Given the description of an element on the screen output the (x, y) to click on. 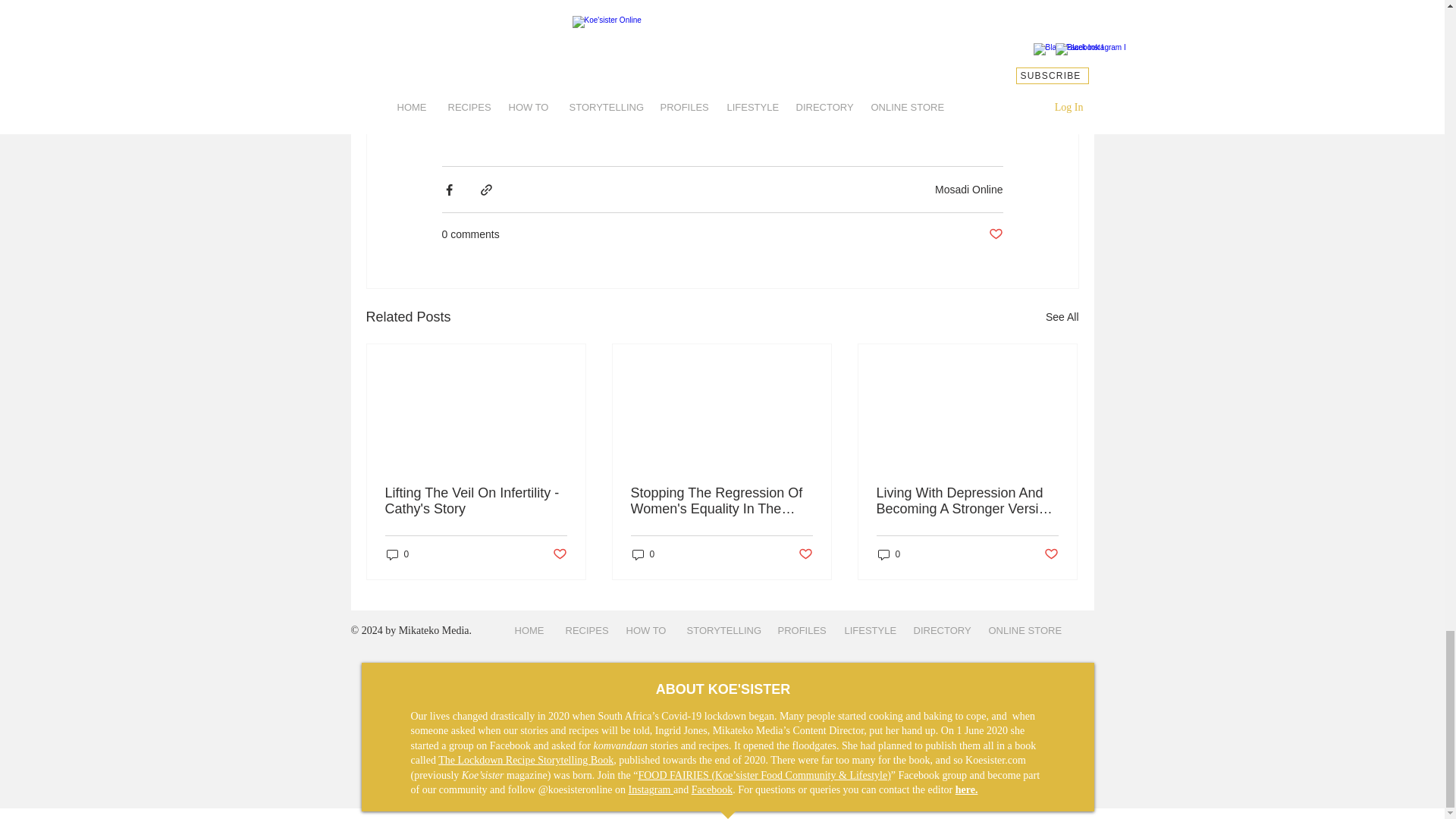
Post not marked as liked (558, 554)
Lifting The Veil On Infertility - Cathy's Story (476, 500)
Post not marked as liked (995, 234)
0 (397, 554)
See All (1061, 317)
Mosadi Online (968, 189)
